Given the description of an element on the screen output the (x, y) to click on. 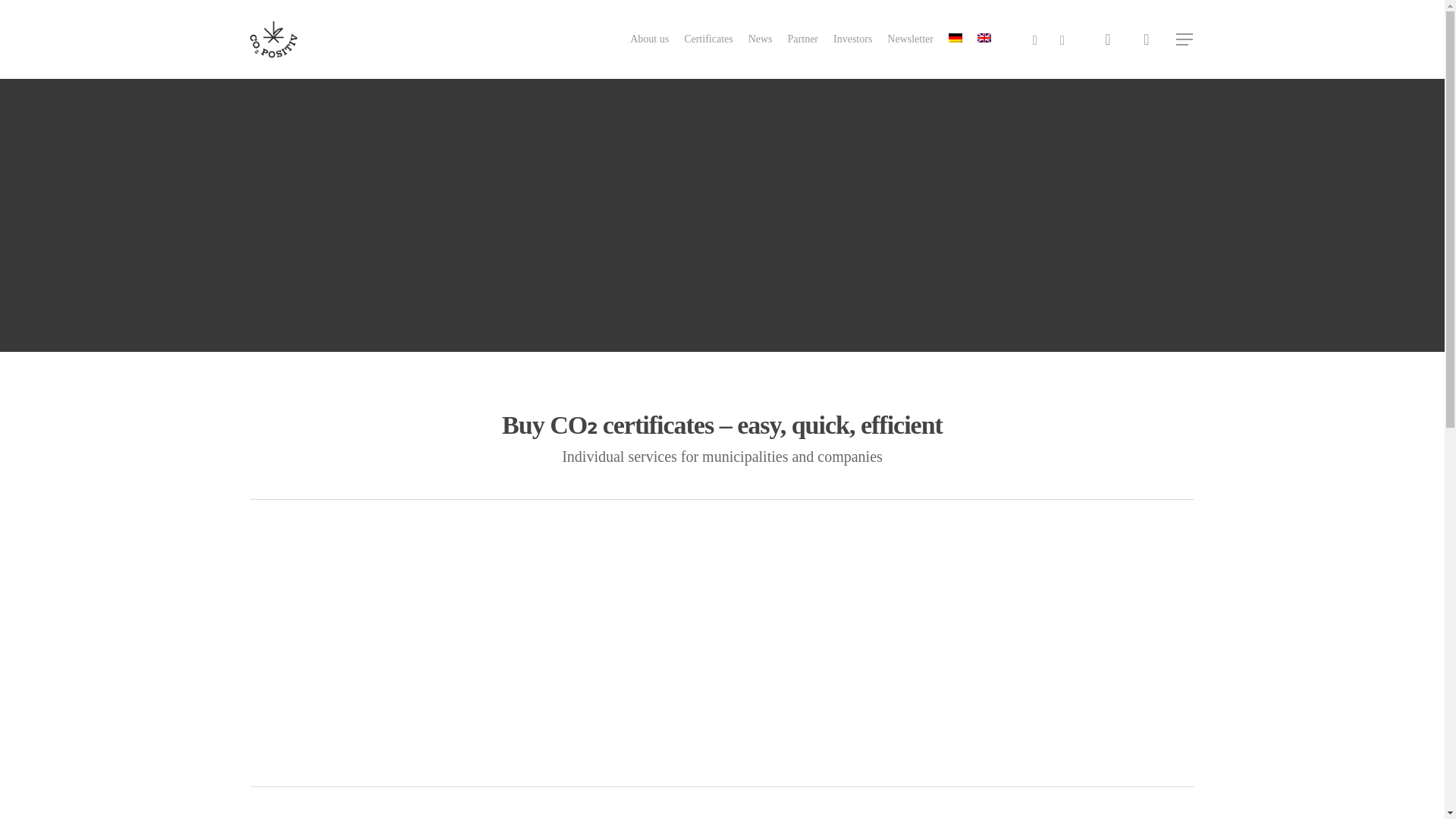
Menu (1184, 39)
Certificates (708, 38)
News (760, 38)
Newsletter (909, 38)
Partner (802, 38)
About us (649, 38)
email (1061, 39)
phone (1035, 39)
search (1107, 39)
Investors (852, 38)
